Given the description of an element on the screen output the (x, y) to click on. 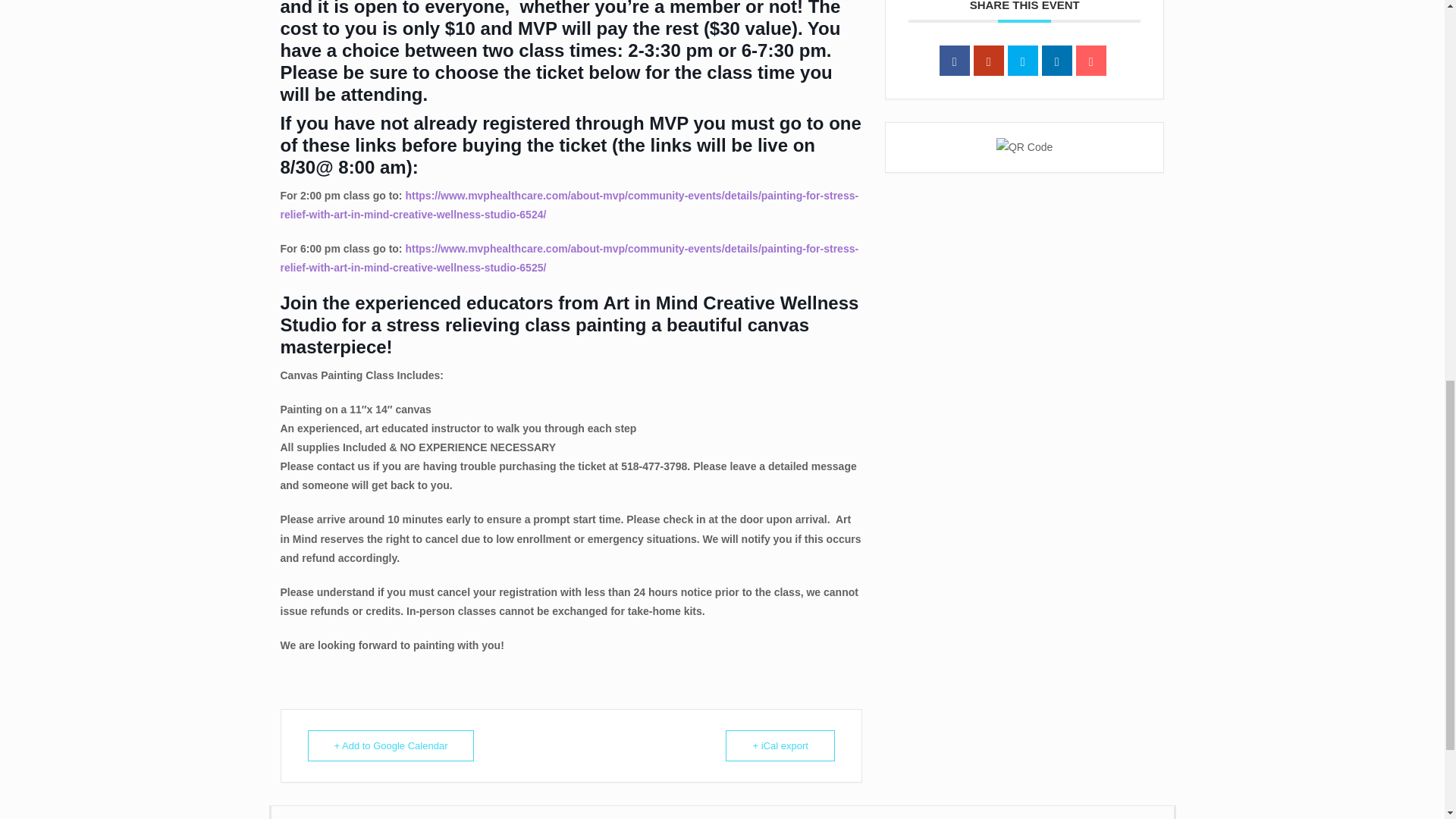
Tweet (1022, 60)
Email (1090, 60)
Linkedin (1056, 60)
Share on Facebook (954, 60)
Google Plus (989, 60)
